Given the description of an element on the screen output the (x, y) to click on. 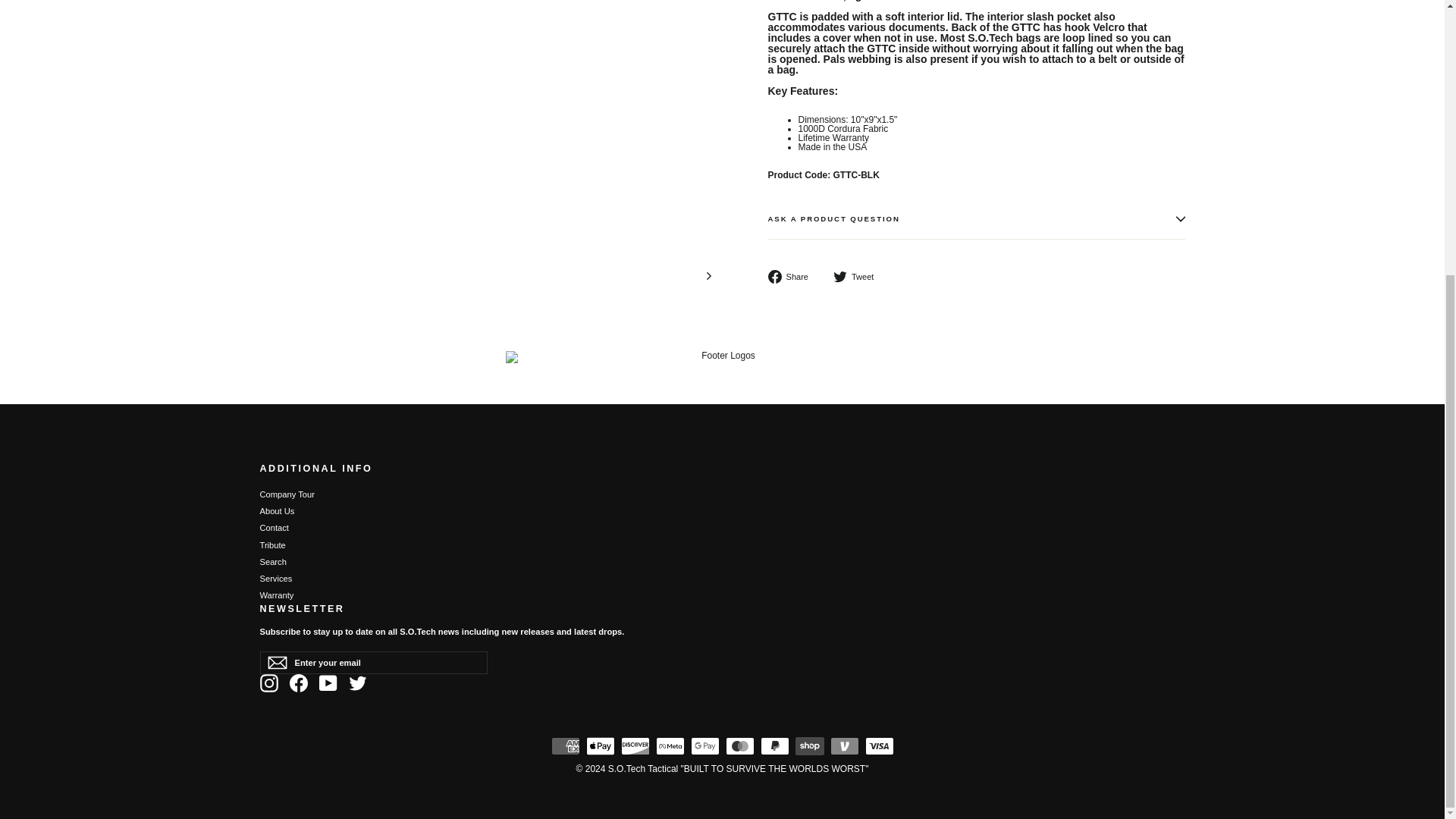
Meta Pay (669, 746)
Discover (634, 746)
American Express (564, 746)
S.O.Tech Tactical on Facebook (298, 683)
Google Pay (704, 746)
S.O.Tech Tactical on Twitter (357, 683)
S.O.Tech Tactical on Instagram (268, 683)
Shop Pay (809, 746)
PayPal (774, 746)
S.O.Tech Tactical on YouTube (327, 683)
